Given the description of an element on the screen output the (x, y) to click on. 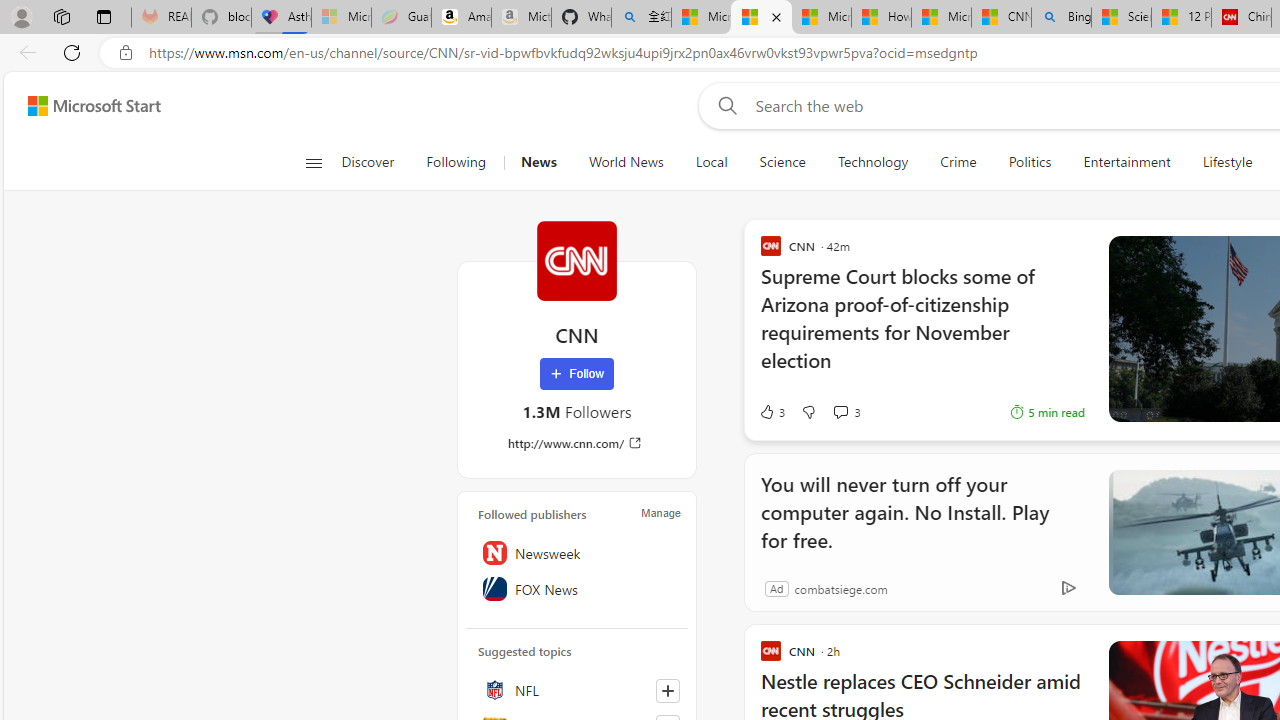
Discover (375, 162)
View comments 3 Comment (846, 412)
Politics (1030, 162)
Asthma Inhalers: Names and Types (281, 17)
Follow (577, 373)
Science (781, 162)
Science (782, 162)
Technology (872, 162)
combatsiege.com (840, 588)
Dislike (808, 412)
Newsweek (577, 552)
3 Like (771, 412)
